Given the description of an element on the screen output the (x, y) to click on. 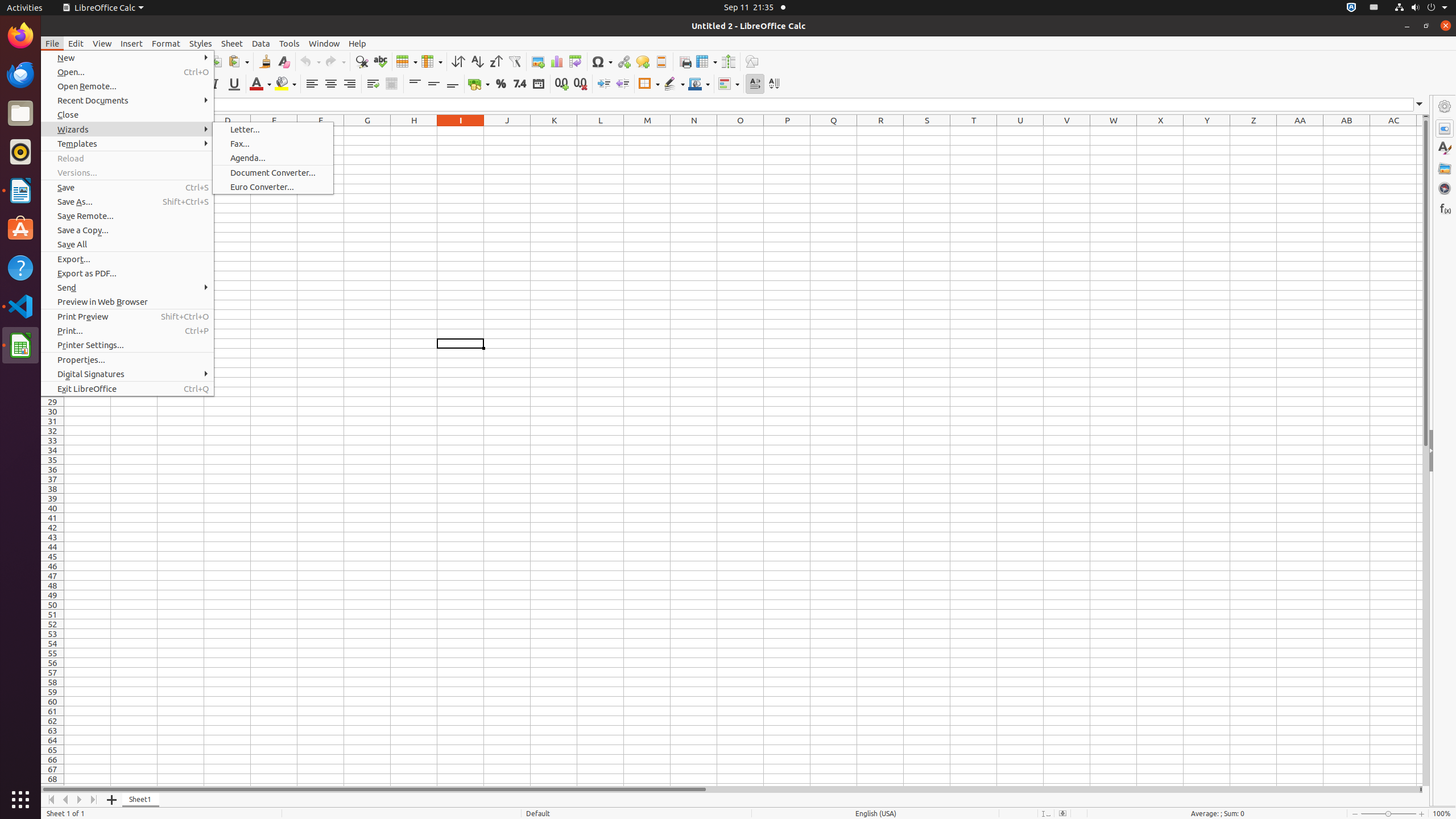
Background Color Element type: push-button (285, 83)
Recent Documents Element type: menu (126, 100)
AA1 Element type: table-cell (1299, 130)
Sheet Element type: menu (231, 43)
Pivot Table Element type: push-button (574, 61)
